Given the description of an element on the screen output the (x, y) to click on. 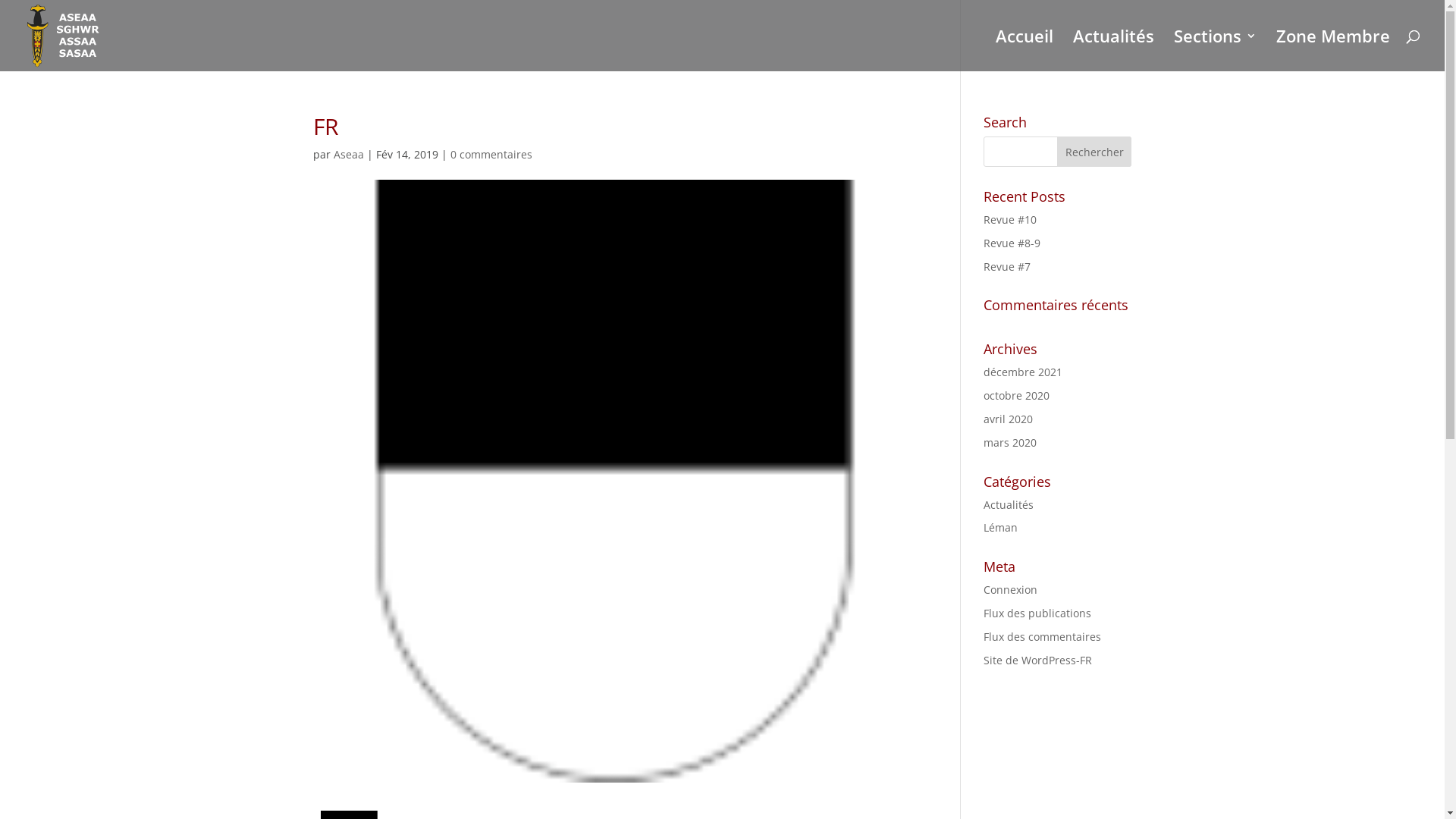
0 commentaires Element type: text (491, 154)
Accueil Element type: text (1024, 50)
Revue #8-9 Element type: text (1011, 242)
Rechercher Element type: text (1094, 151)
Flux des commentaires Element type: text (1042, 636)
Zone Membre Element type: text (1333, 50)
Site de WordPress-FR Element type: text (1037, 659)
Connexion Element type: text (1010, 589)
Flux des publications Element type: text (1037, 612)
octobre 2020 Element type: text (1016, 395)
Revue #7 Element type: text (1006, 266)
Revue #10 Element type: text (1009, 219)
avril 2020 Element type: text (1007, 418)
Aseaa Element type: text (348, 154)
mars 2020 Element type: text (1009, 442)
Sections Element type: text (1214, 50)
